Given the description of an element on the screen output the (x, y) to click on. 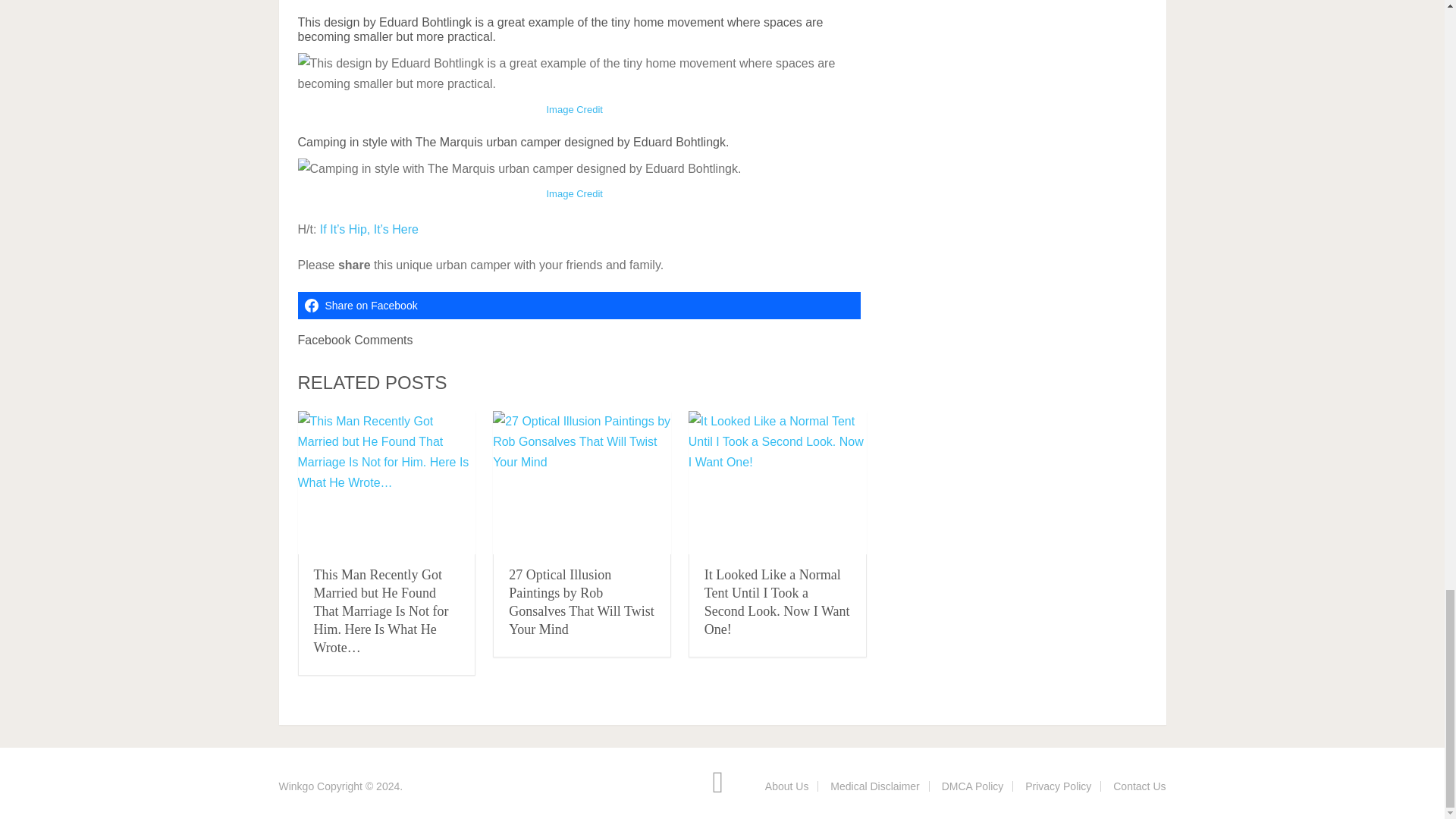
Share on Share on Facebook (578, 305)
